Given the description of an element on the screen output the (x, y) to click on. 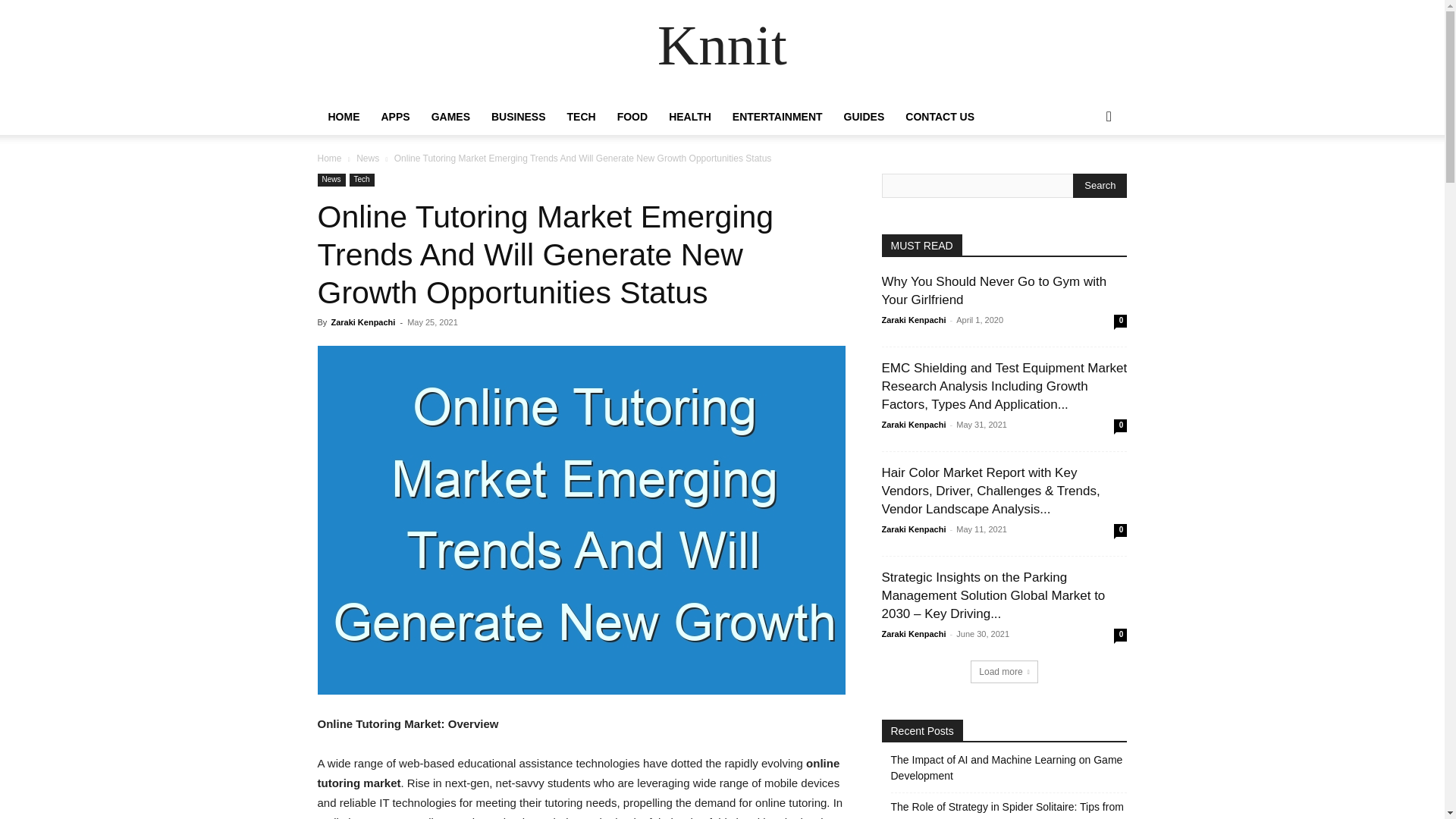
Knnit (722, 50)
Search (1085, 177)
ENTERTAINMENT (777, 116)
News (331, 179)
APPS (394, 116)
News (367, 158)
TECH (581, 116)
Search (1099, 185)
